Given the description of an element on the screen output the (x, y) to click on. 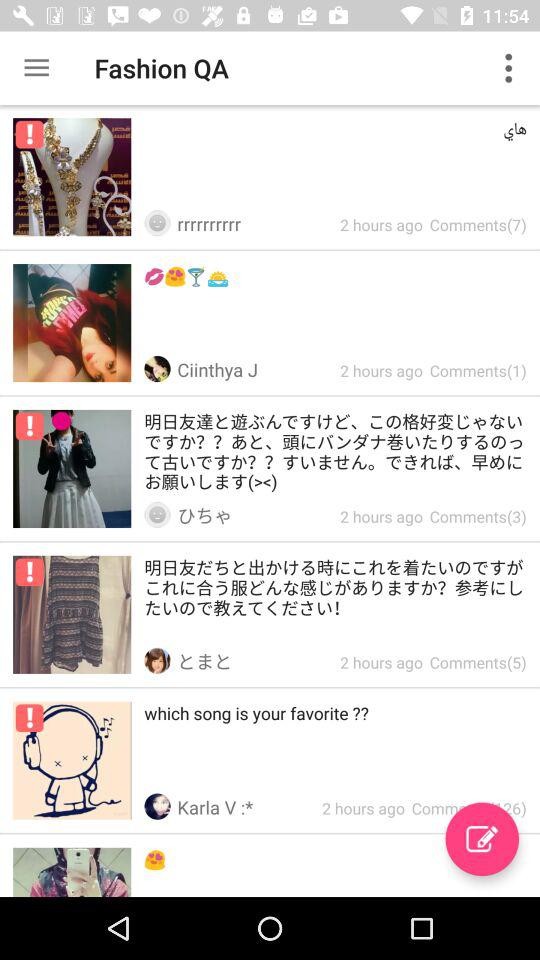
press icon next to fashion qa icon (36, 68)
